Given the description of an element on the screen output the (x, y) to click on. 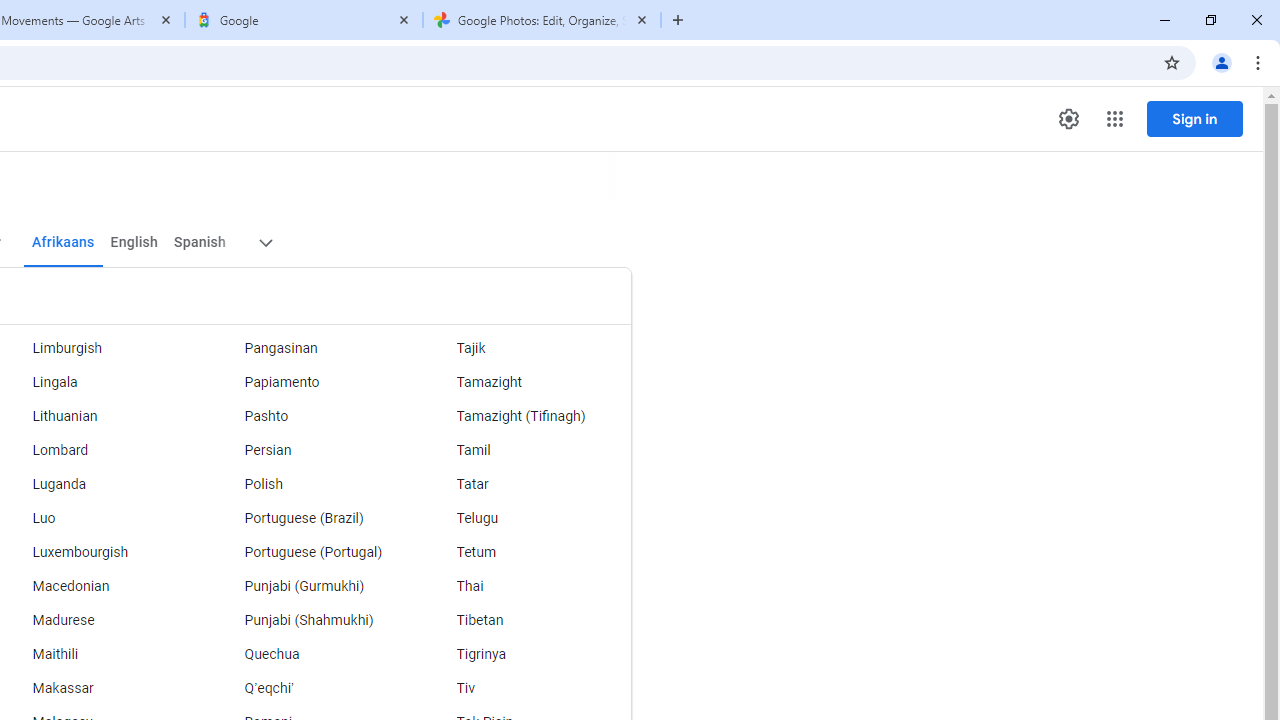
Tamazight (Tifinagh) (525, 416)
Tamil (525, 450)
Tiv (525, 688)
Polish (312, 484)
Tetum (525, 552)
Pashto (312, 416)
Portuguese (Portugal) (312, 552)
Tamazight (525, 382)
Papiamento (312, 382)
